Given the description of an element on the screen output the (x, y) to click on. 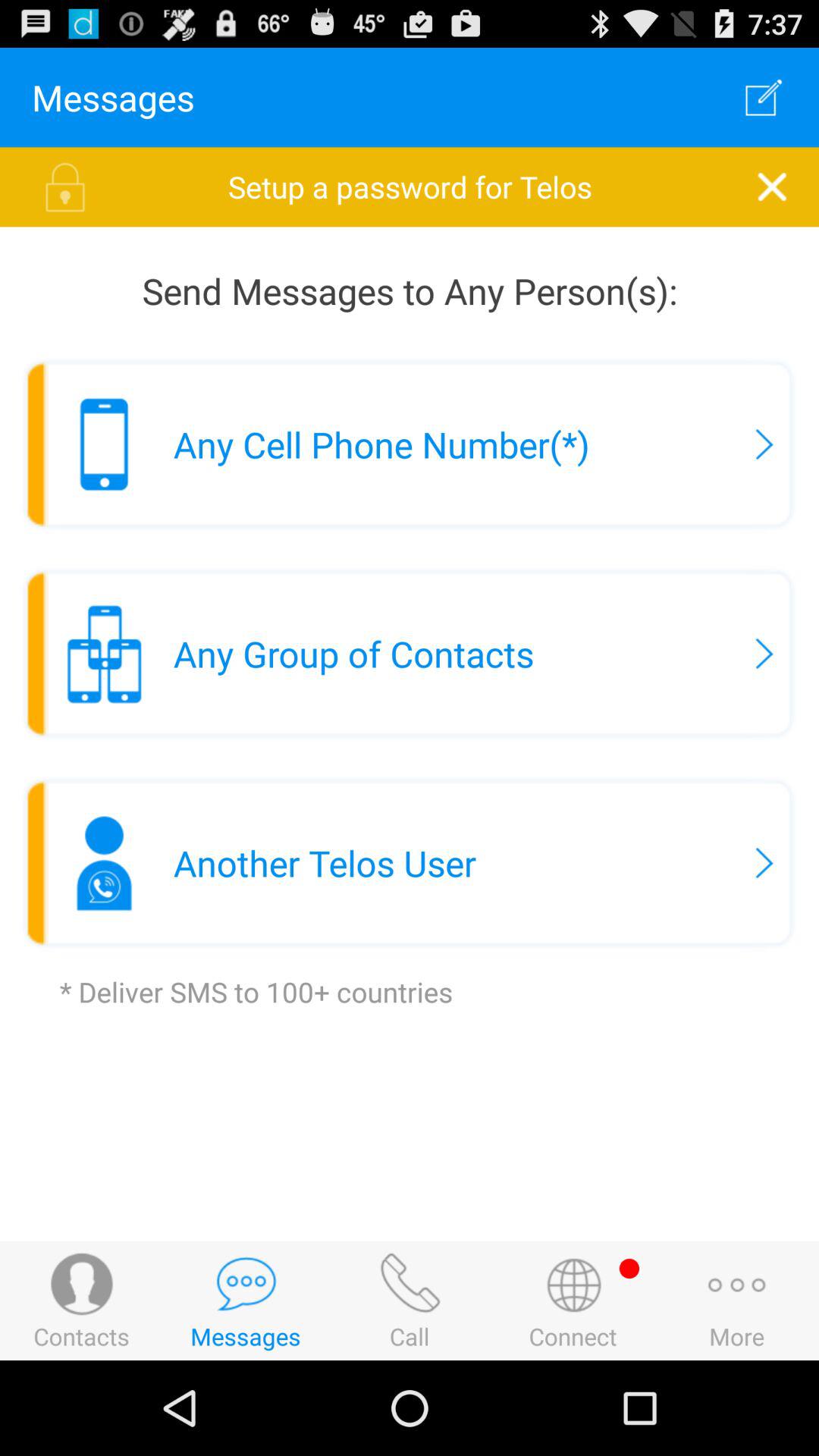
turn off the icon above setup a password (763, 97)
